Given the description of an element on the screen output the (x, y) to click on. 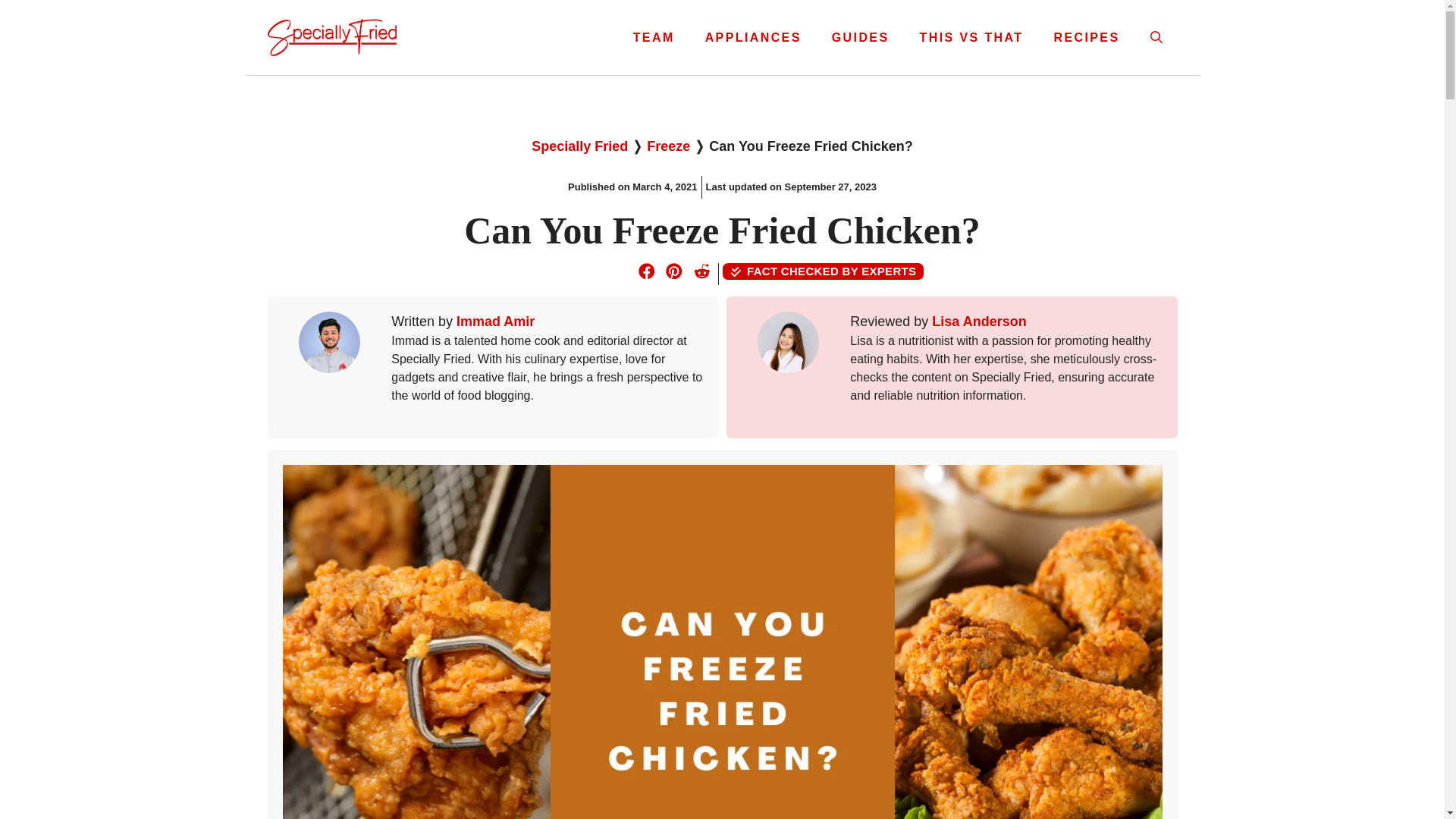
RECIPES (1086, 37)
Freeze (668, 145)
Immad Amir (495, 322)
GUIDES (860, 37)
THIS VS THAT (971, 37)
TEAM (653, 37)
Lisa Anderson (978, 322)
Specially Fried (579, 145)
APPLIANCES (753, 37)
